Given the description of an element on the screen output the (x, y) to click on. 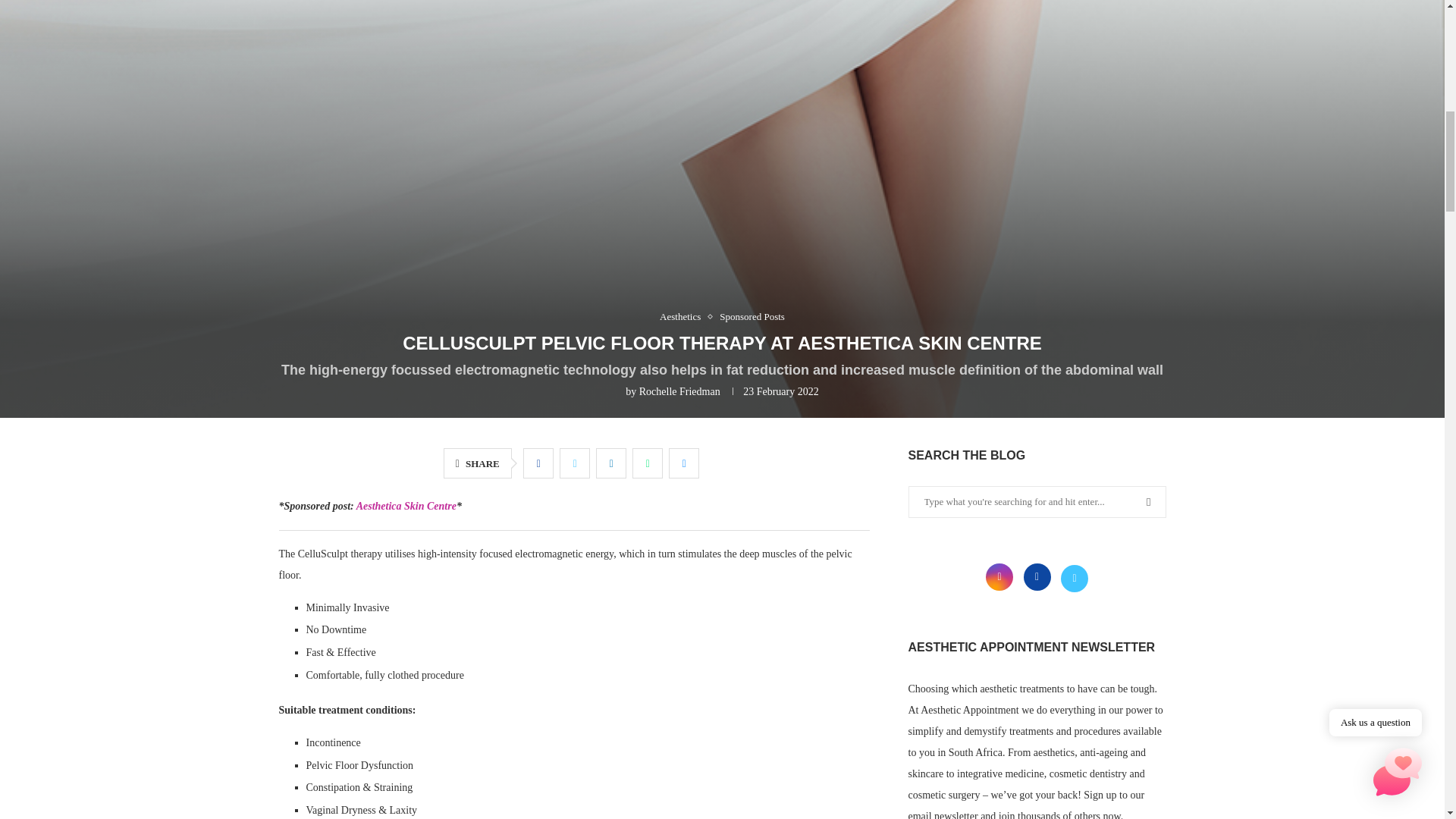
Sponsored Posts (751, 316)
Rochelle Friedman (679, 391)
Aesthetics (683, 316)
